Given the description of an element on the screen output the (x, y) to click on. 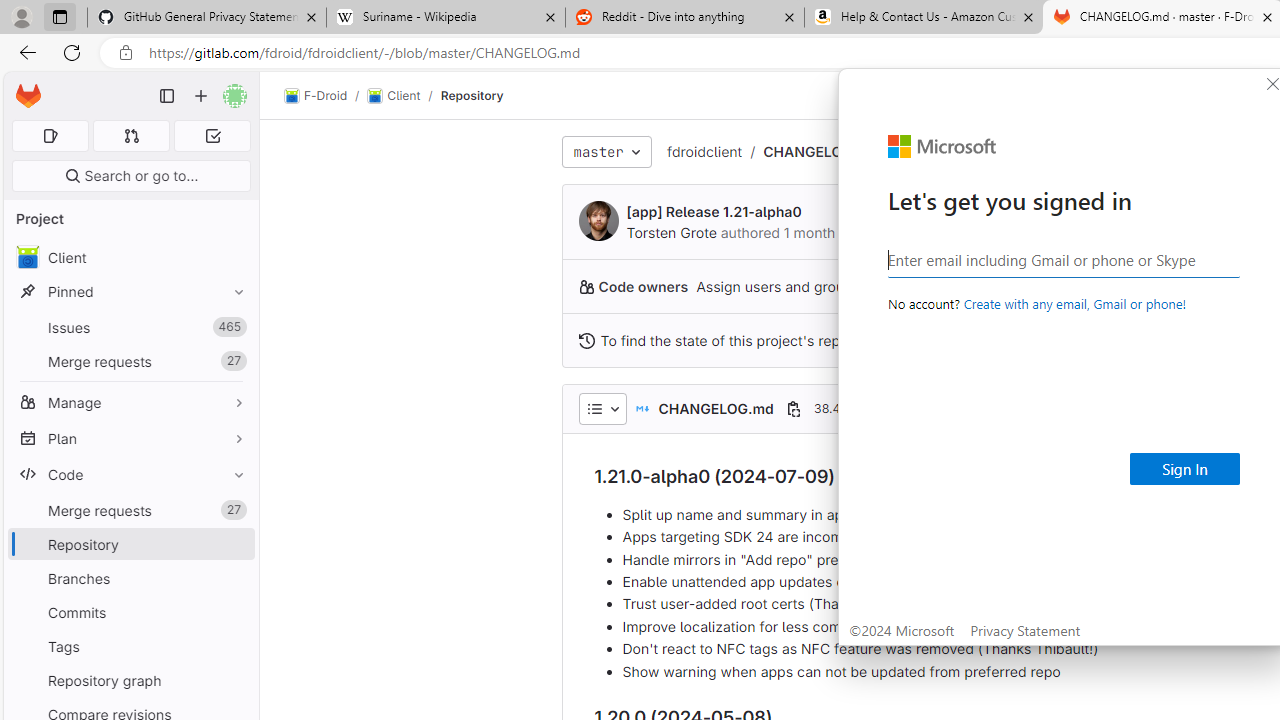
Tags (130, 646)
Pin Repository (234, 544)
Enter email including Gmail or phone or Skype (1064, 259)
Manage (130, 402)
master (605, 151)
Repository graph (130, 679)
